Given the description of an element on the screen output the (x, y) to click on. 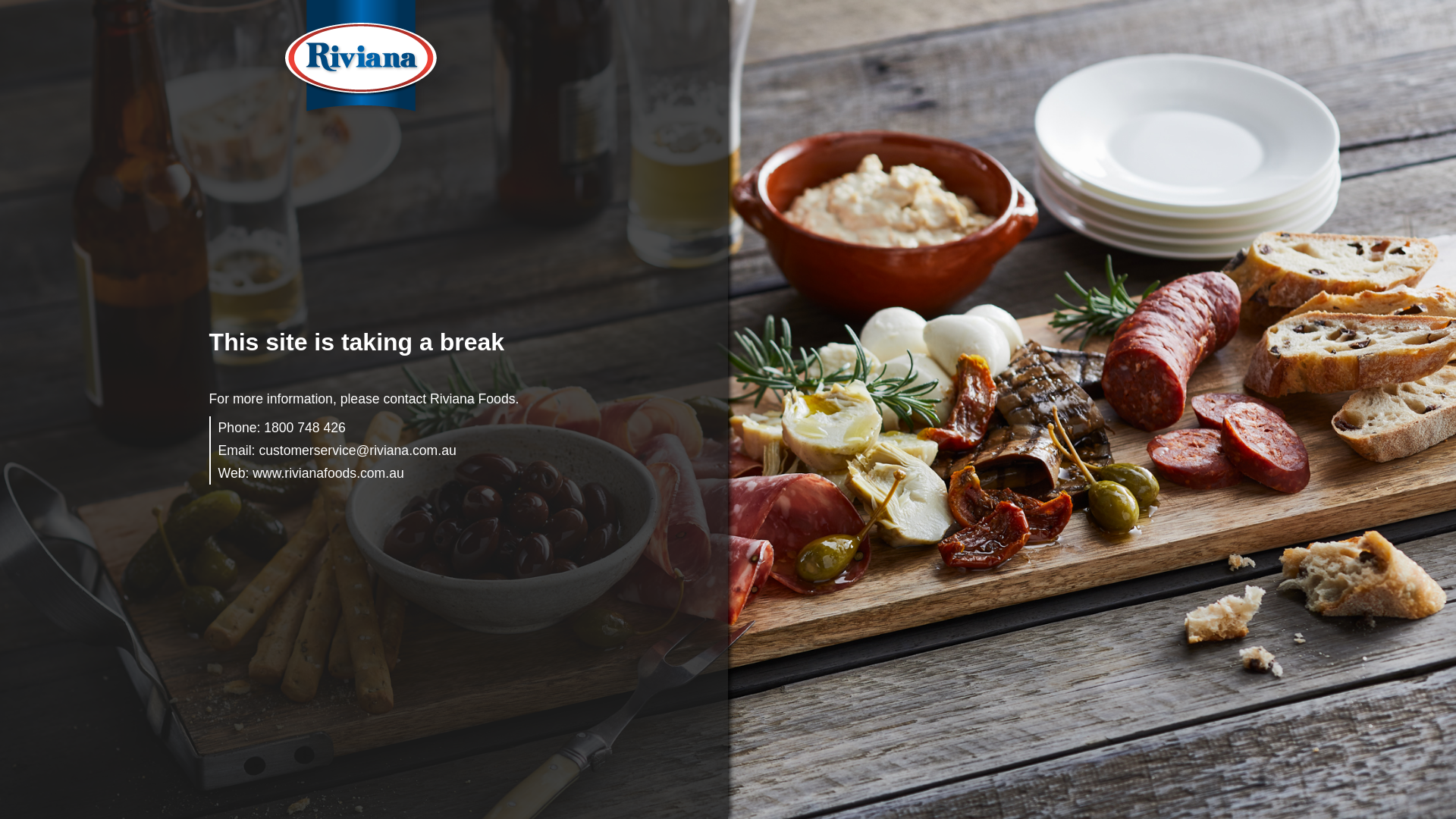
Phone: 1800 748 426 Element type: text (281, 427)
Web: www.rivianafoods.com.au Element type: text (311, 472)
Email: customerservice@riviana.com.au Element type: text (337, 450)
